Given the description of an element on the screen output the (x, y) to click on. 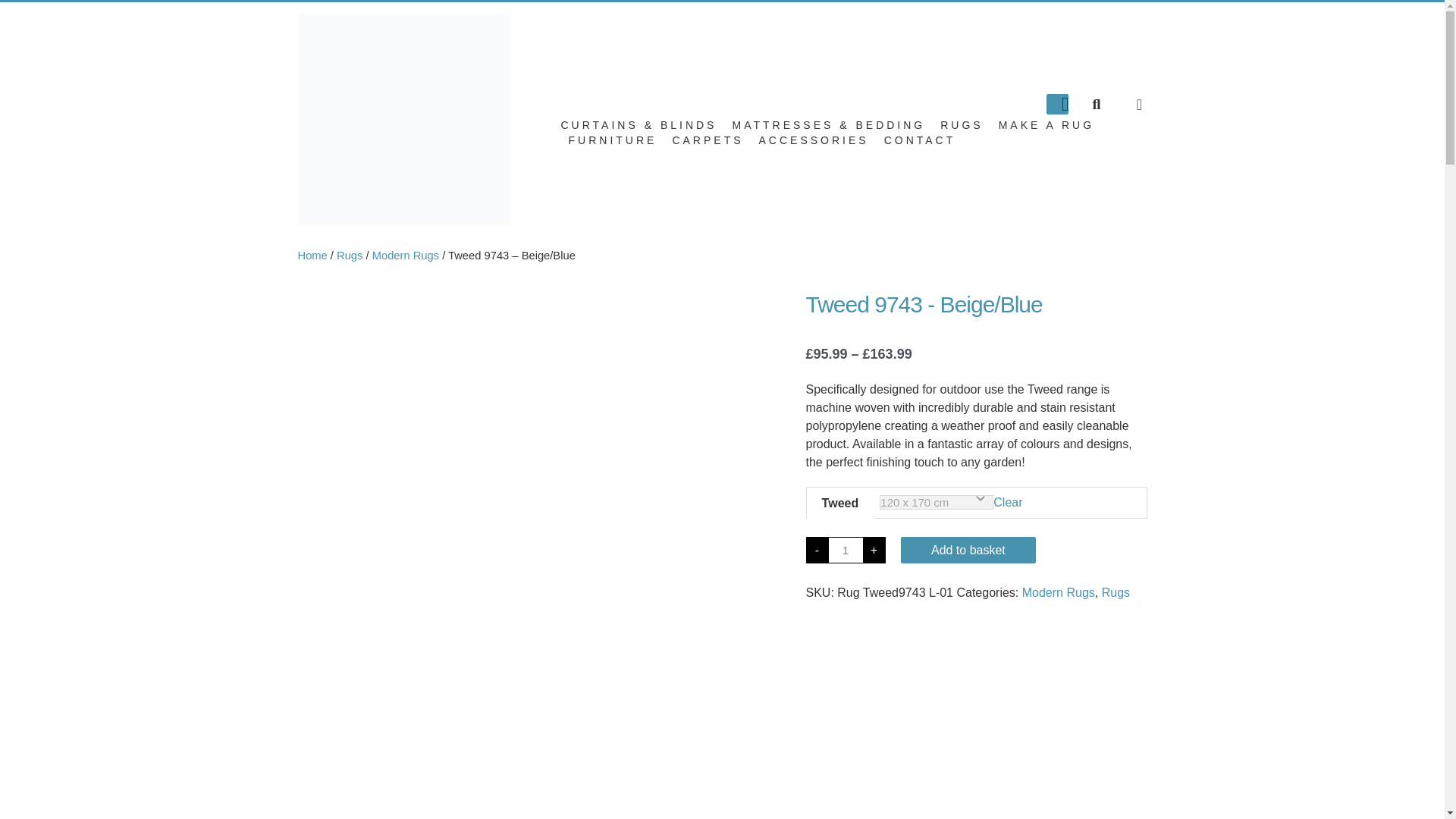
1 (844, 550)
RUGS (961, 124)
Modern Rugs (405, 255)
CARPETS (706, 140)
CONTACT (919, 140)
Qty (844, 550)
Rugs (349, 255)
MAKE A RUG (1046, 124)
Home (311, 255)
ACCESSORIES (813, 140)
